Given the description of an element on the screen output the (x, y) to click on. 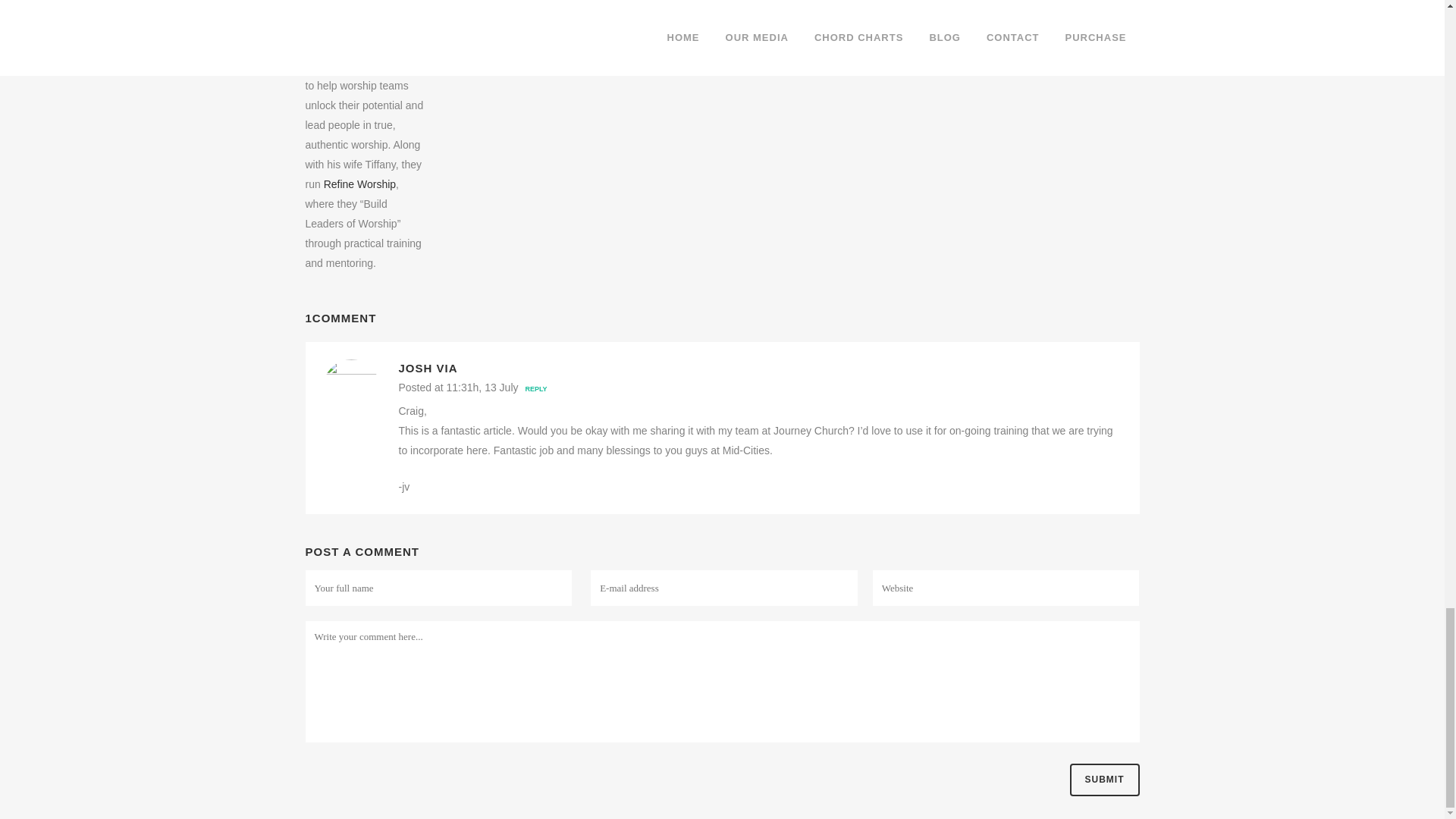
Refine Worship (359, 184)
REPLY (534, 388)
JOSH VIA (428, 367)
Submit (1103, 779)
Submit (1103, 779)
